Given the description of an element on the screen output the (x, y) to click on. 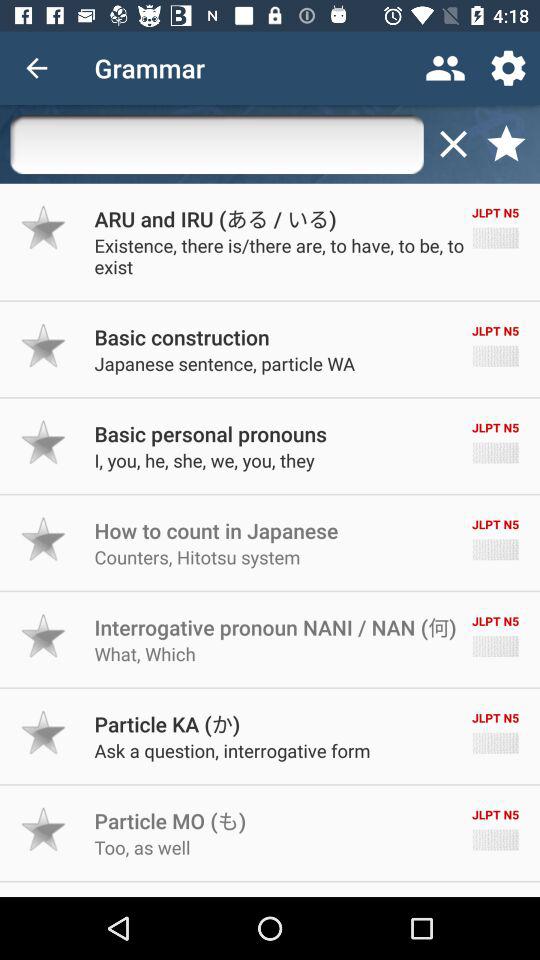
turn off icon above the existence there is icon (215, 218)
